Given the description of an element on the screen output the (x, y) to click on. 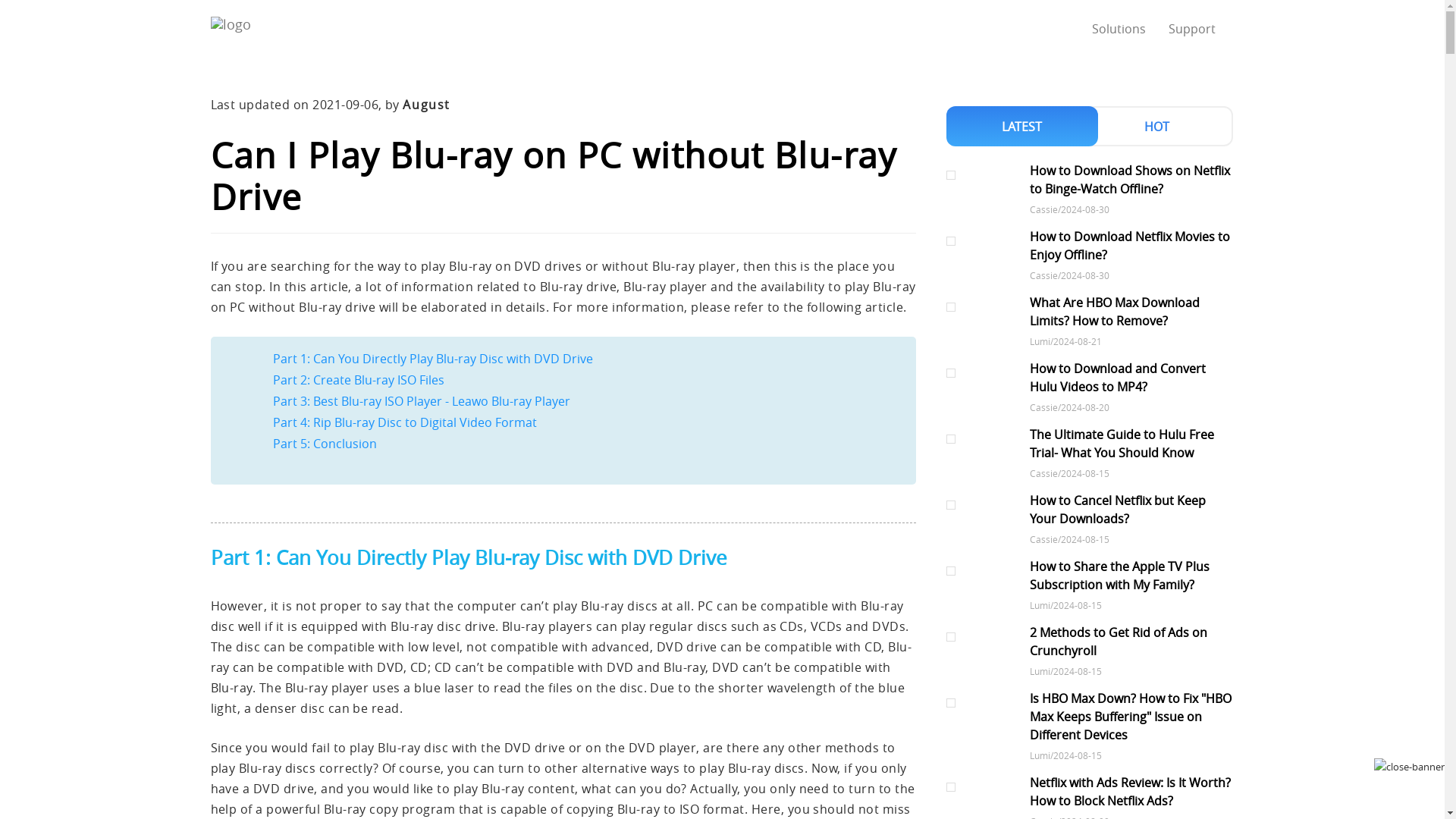
Solutions (1118, 28)
Support (1190, 28)
HOT (1157, 126)
leawo.org (260, 28)
Part 2: Create Blu-ray ISO Files (358, 379)
Part 5: Conclusion (325, 443)
Part 1: Can You Directly Play Blu-ray Disc with DVD Drive (432, 358)
Part 4: Rip Blu-ray Disc to Digital Video Format (405, 422)
LATEST (1021, 126)
Part 3: Best Blu-ray ISO Player - Leawo Blu-ray Player (421, 401)
